Given the description of an element on the screen output the (x, y) to click on. 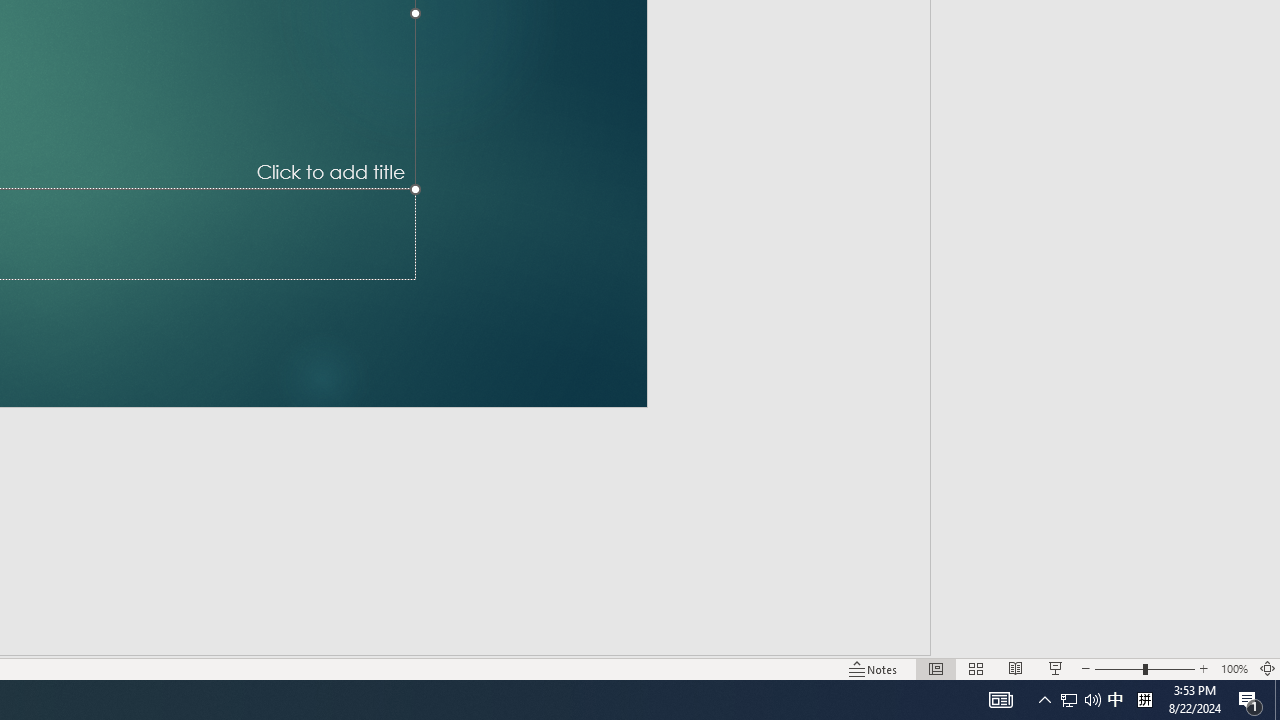
Zoom 100% (1234, 668)
